Given the description of an element on the screen output the (x, y) to click on. 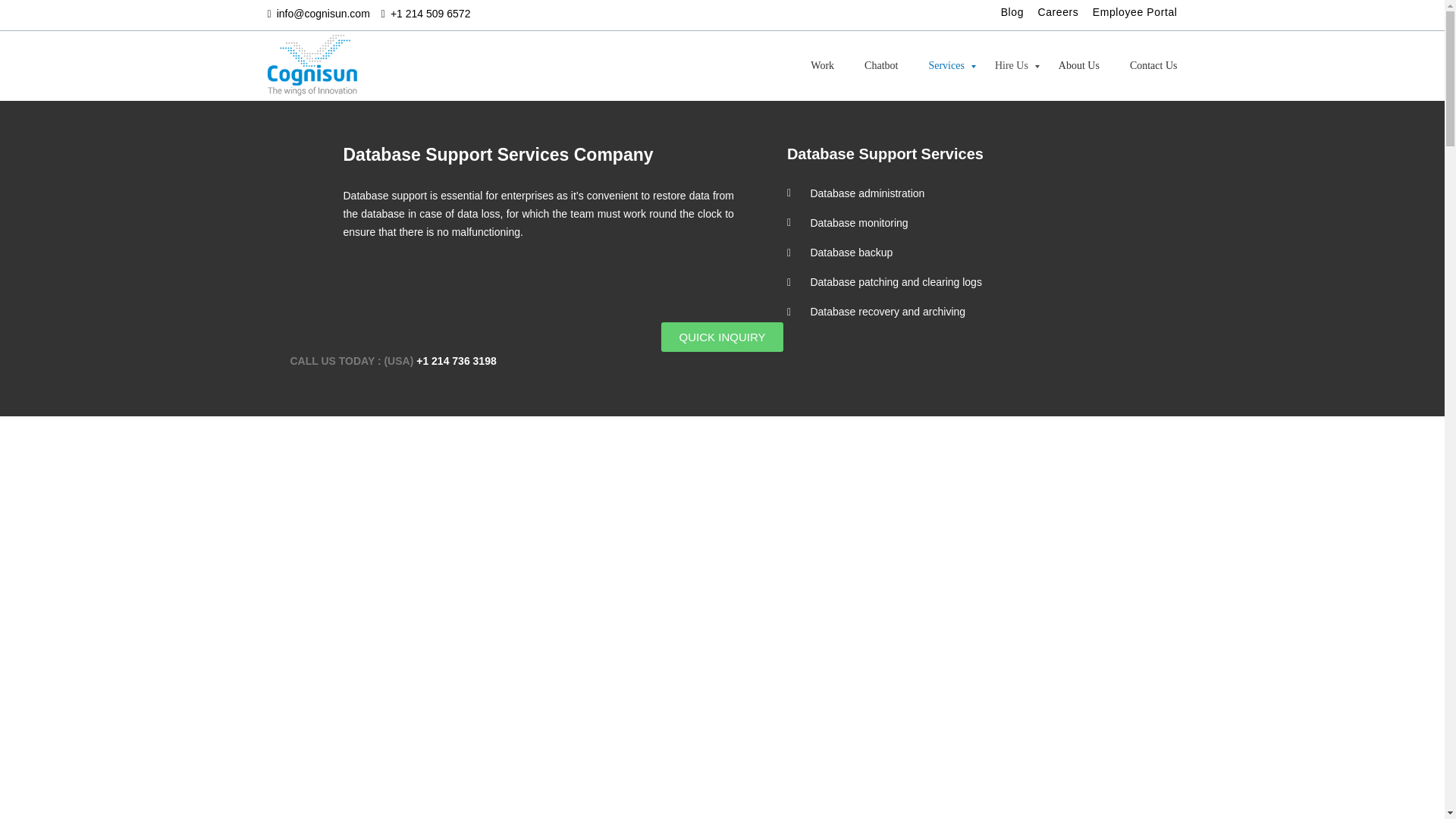
Careers (1057, 11)
Chatbot (880, 66)
Employee Portal (1135, 11)
Services (945, 66)
Employee Portal (1135, 11)
Blog (1012, 11)
Careers (1057, 11)
